Given the description of an element on the screen output the (x, y) to click on. 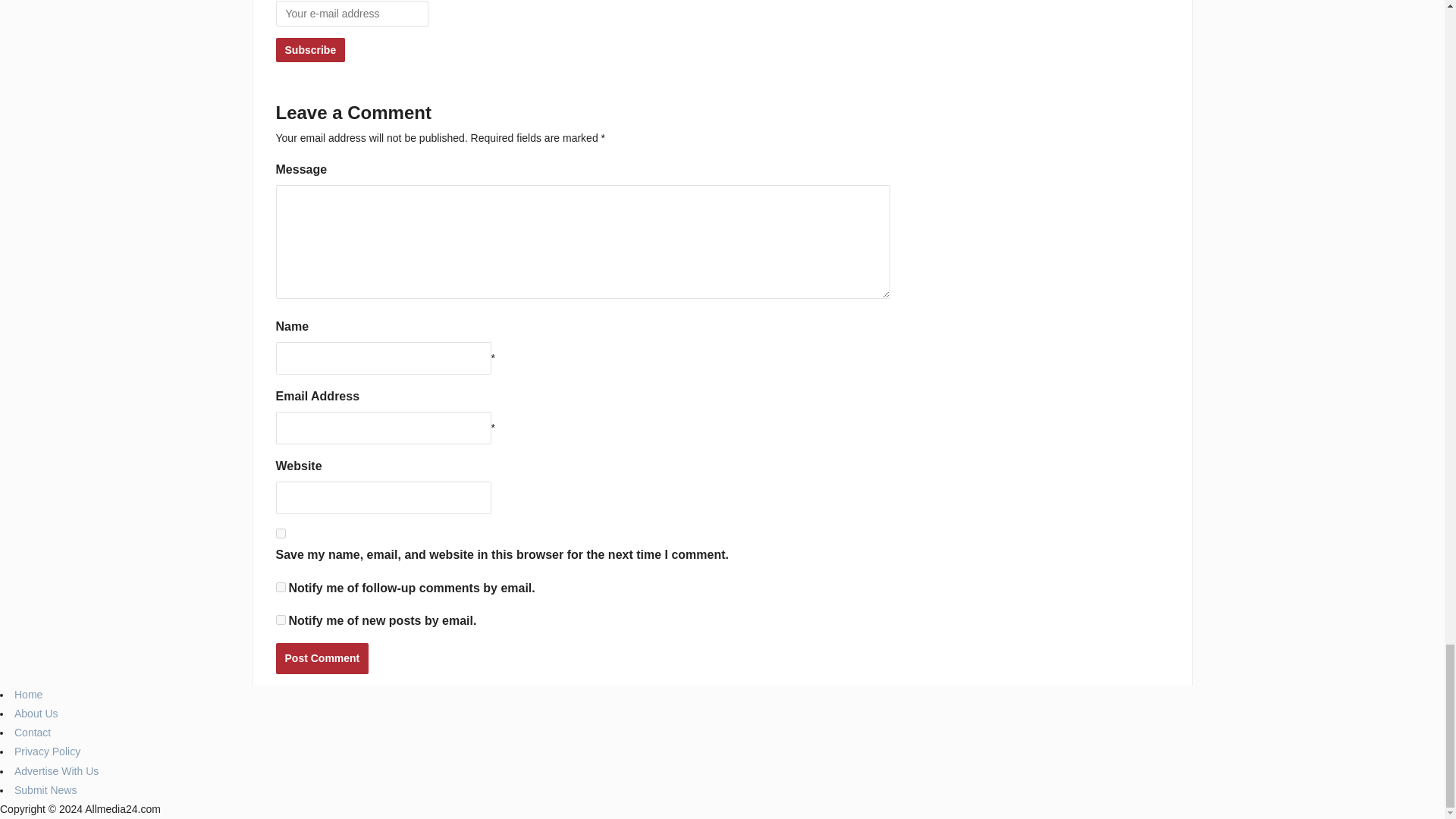
subscribe (280, 587)
Subscribe (311, 49)
yes (280, 533)
subscribe (280, 619)
Post Comment (322, 658)
